Given the description of an element on the screen output the (x, y) to click on. 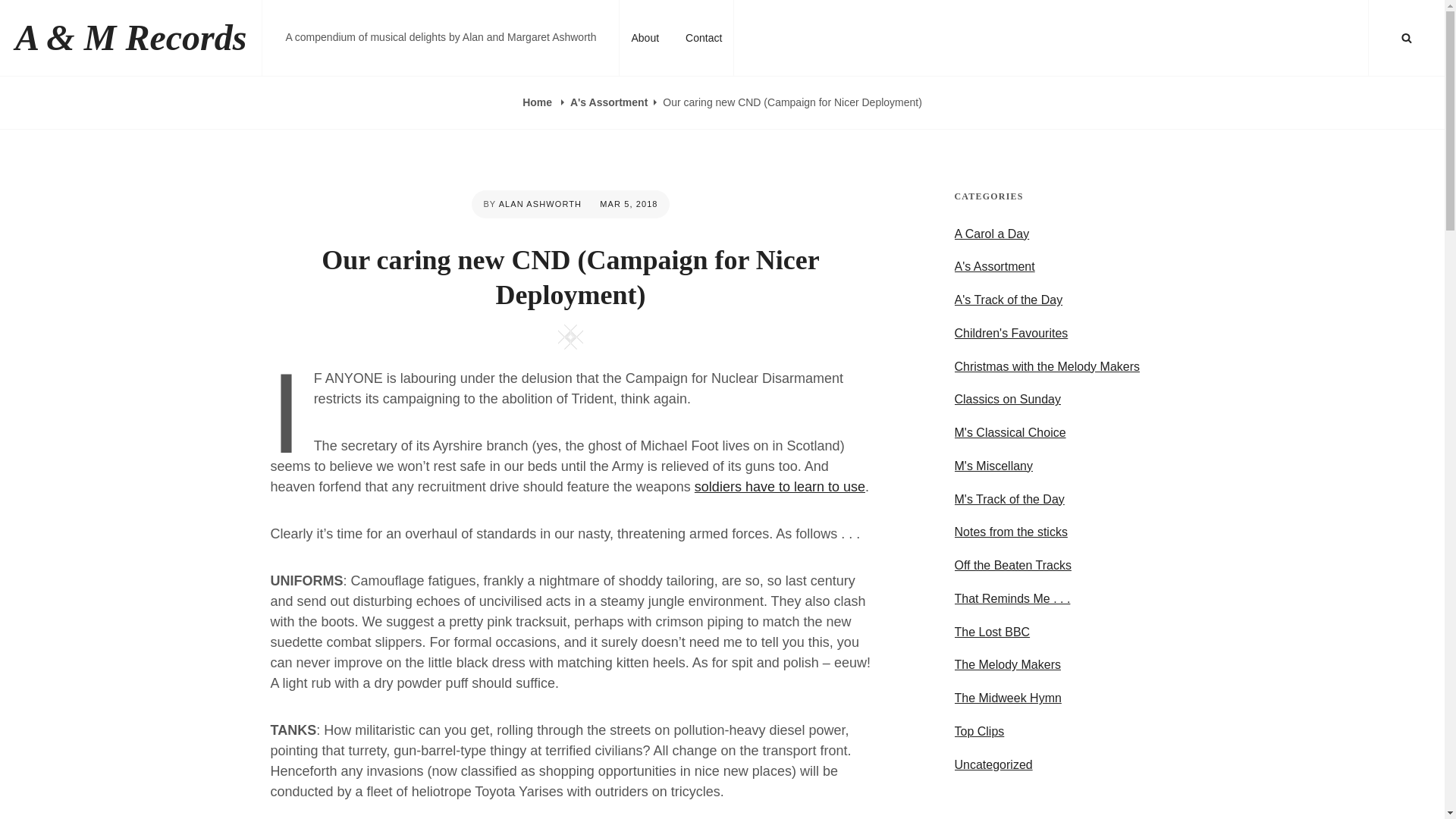
A Carol a Day (991, 234)
M's Miscellany (992, 466)
About (644, 38)
M's Classical Choice (1009, 432)
Off the Beaten Tracks (1011, 565)
A's Assortment (608, 102)
Home (538, 102)
Top Clips (978, 731)
Christmas with the Melody Makers (1046, 366)
SEARCH (1407, 37)
That Reminds Me . . . (1011, 598)
M's Track of the Day (1008, 499)
The Lost BBC (991, 632)
The Midweek Hymn (1007, 698)
soldiers have to learn to use (779, 486)
